Given the description of an element on the screen output the (x, y) to click on. 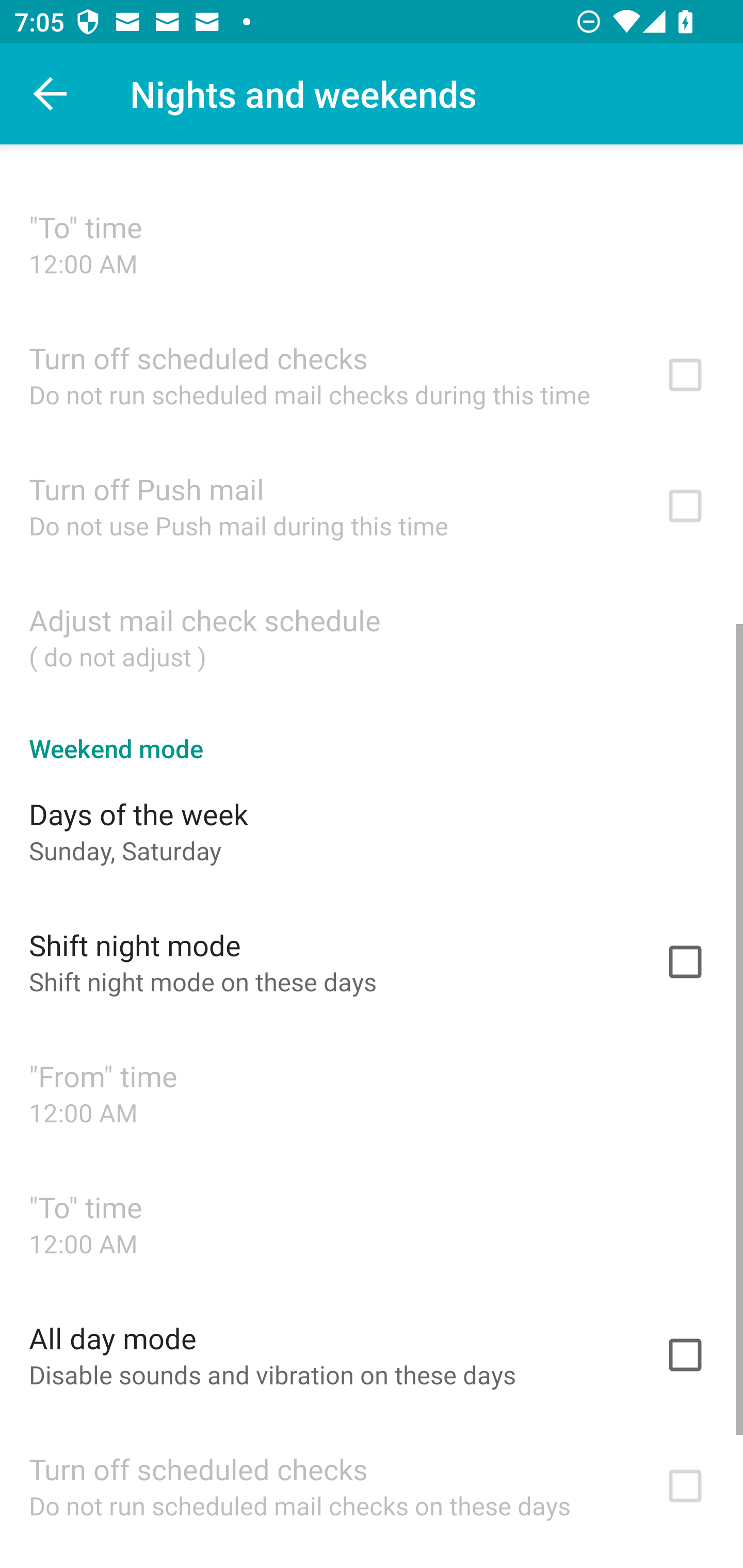
Navigate up (50, 93)
"To" time 12:00 AM (371, 243)
Adjust mail check schedule ( do not adjust ) (371, 636)
Days of the week Sunday, Saturday (371, 830)
Shift night mode Shift night mode on these days (371, 961)
"From" time 12:00 AM (371, 1092)
"To" time 12:00 AM (371, 1223)
